Given the description of an element on the screen output the (x, y) to click on. 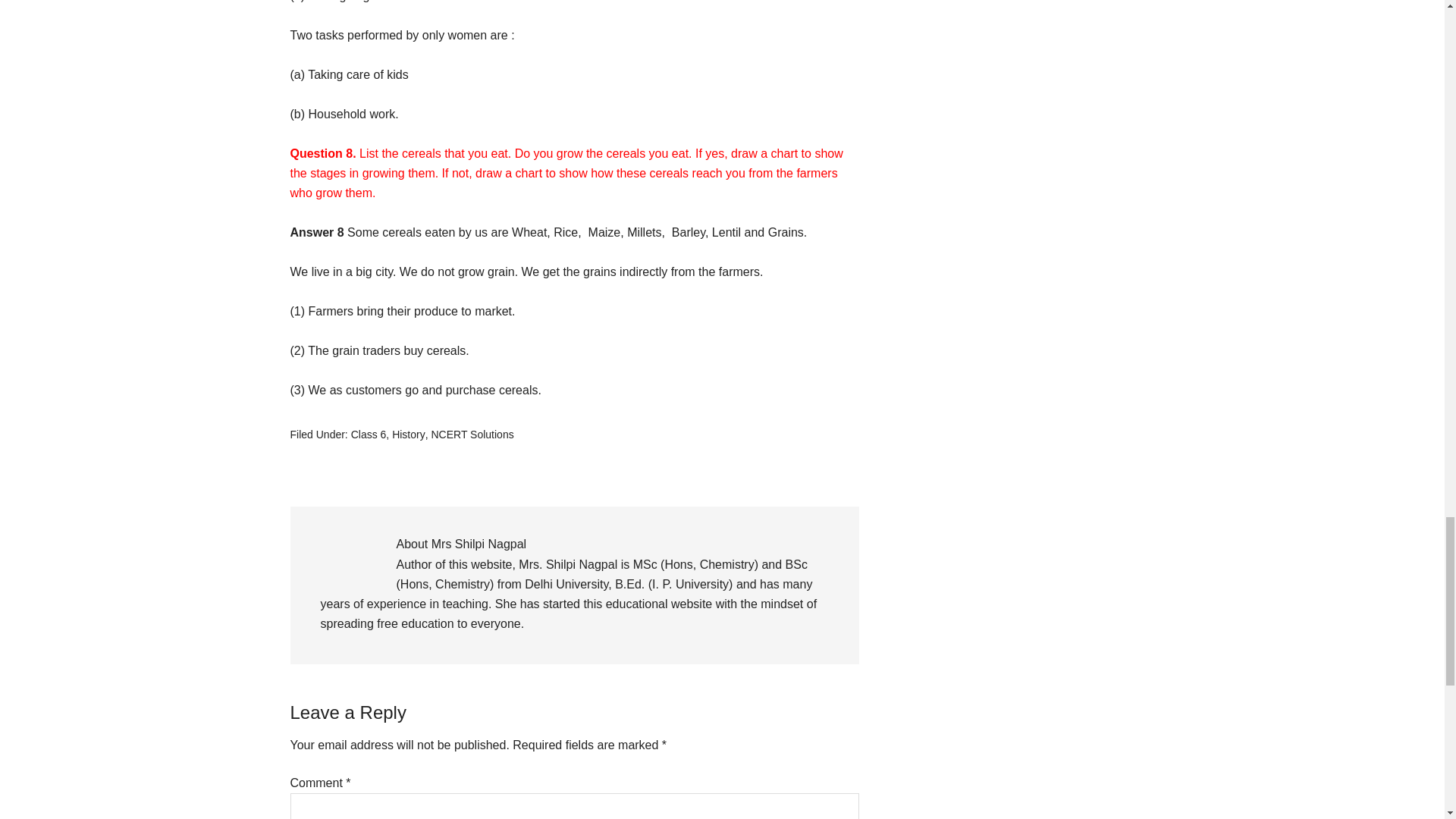
Class 6 (368, 434)
History (408, 434)
NCERT Solutions (471, 434)
